Given the description of an element on the screen output the (x, y) to click on. 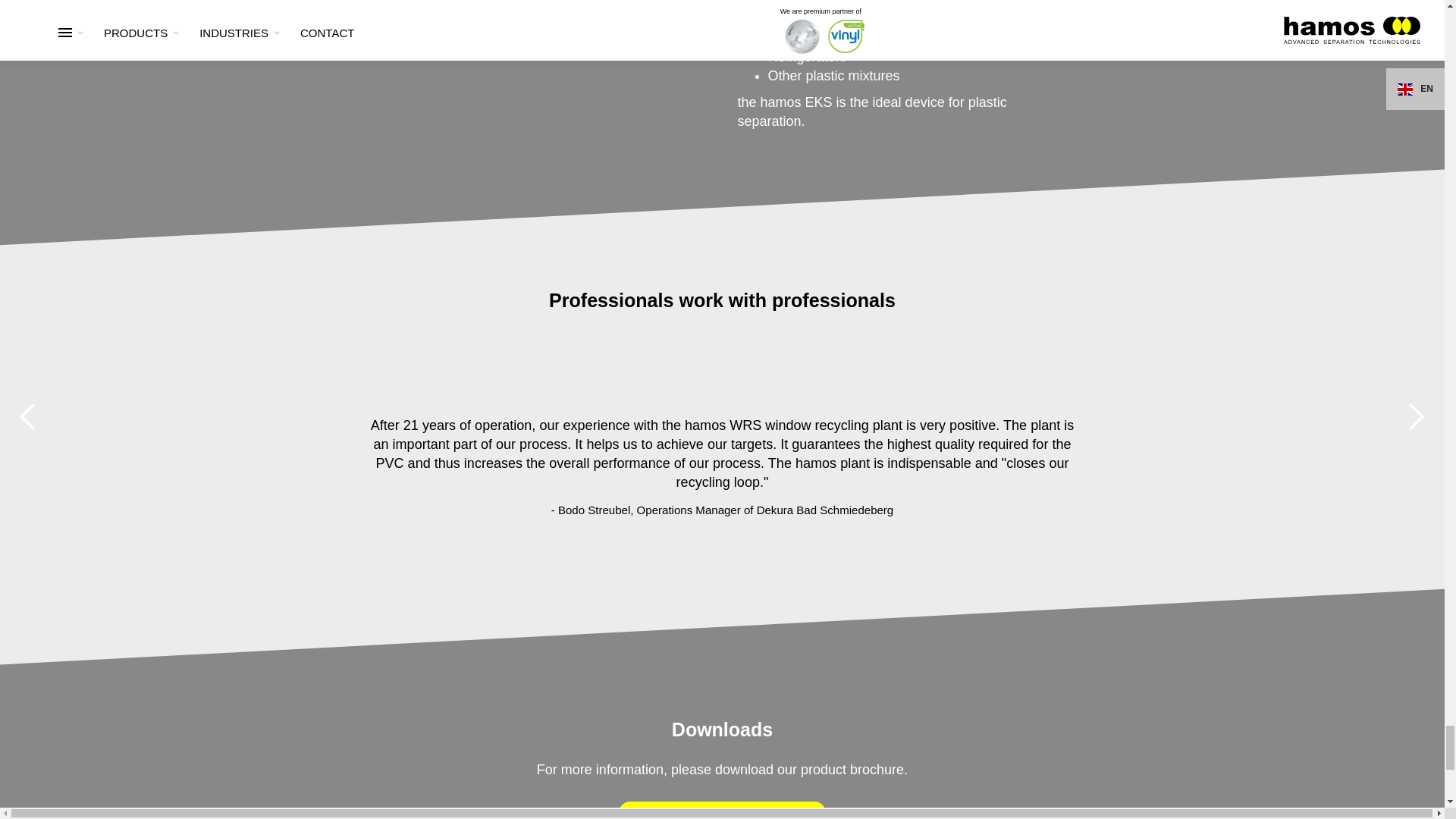
DOWNLOAD BROCHURE (721, 810)
